Given the description of an element on the screen output the (x, y) to click on. 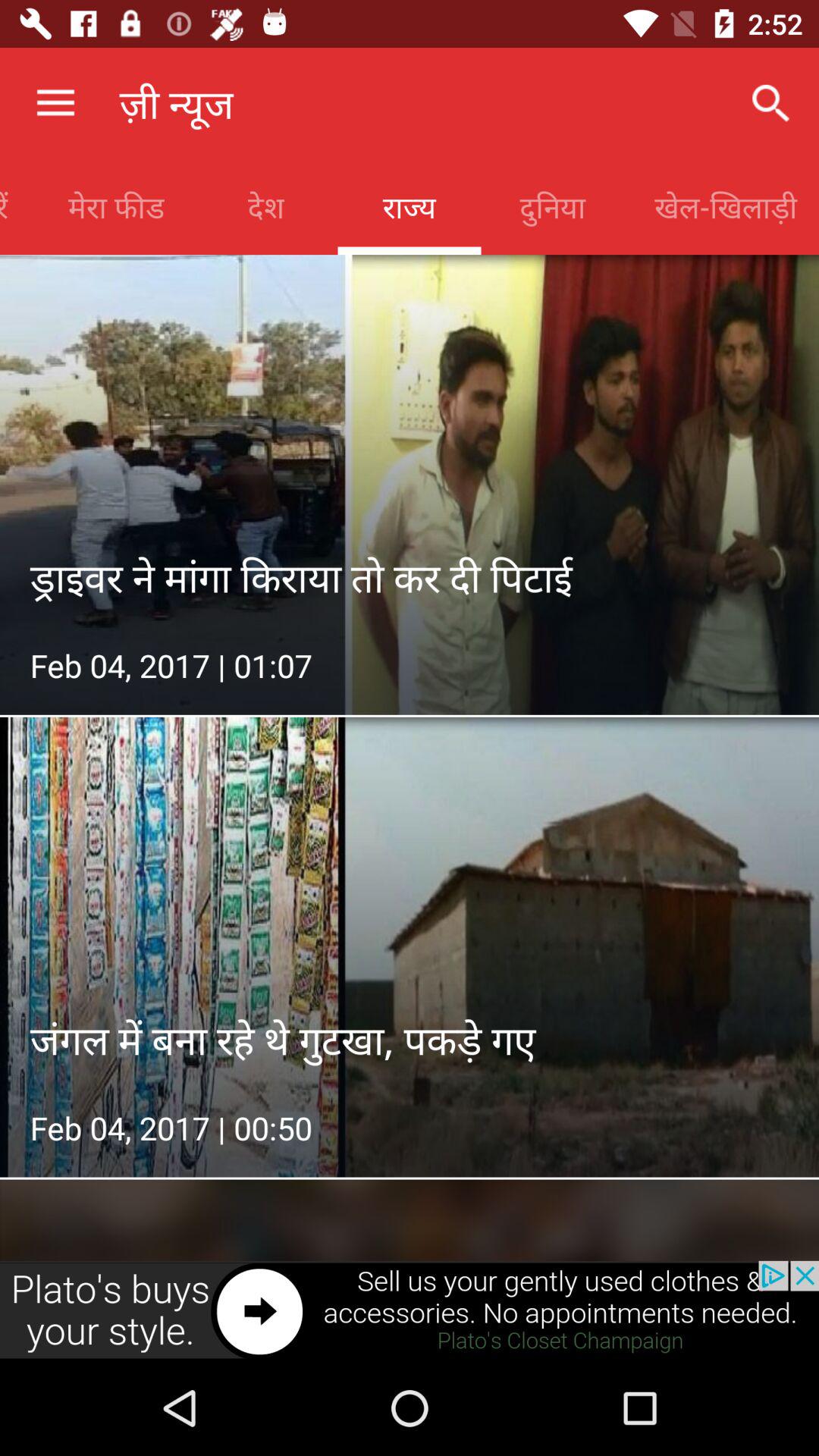
click the search button (771, 103)
